Given the description of an element on the screen output the (x, y) to click on. 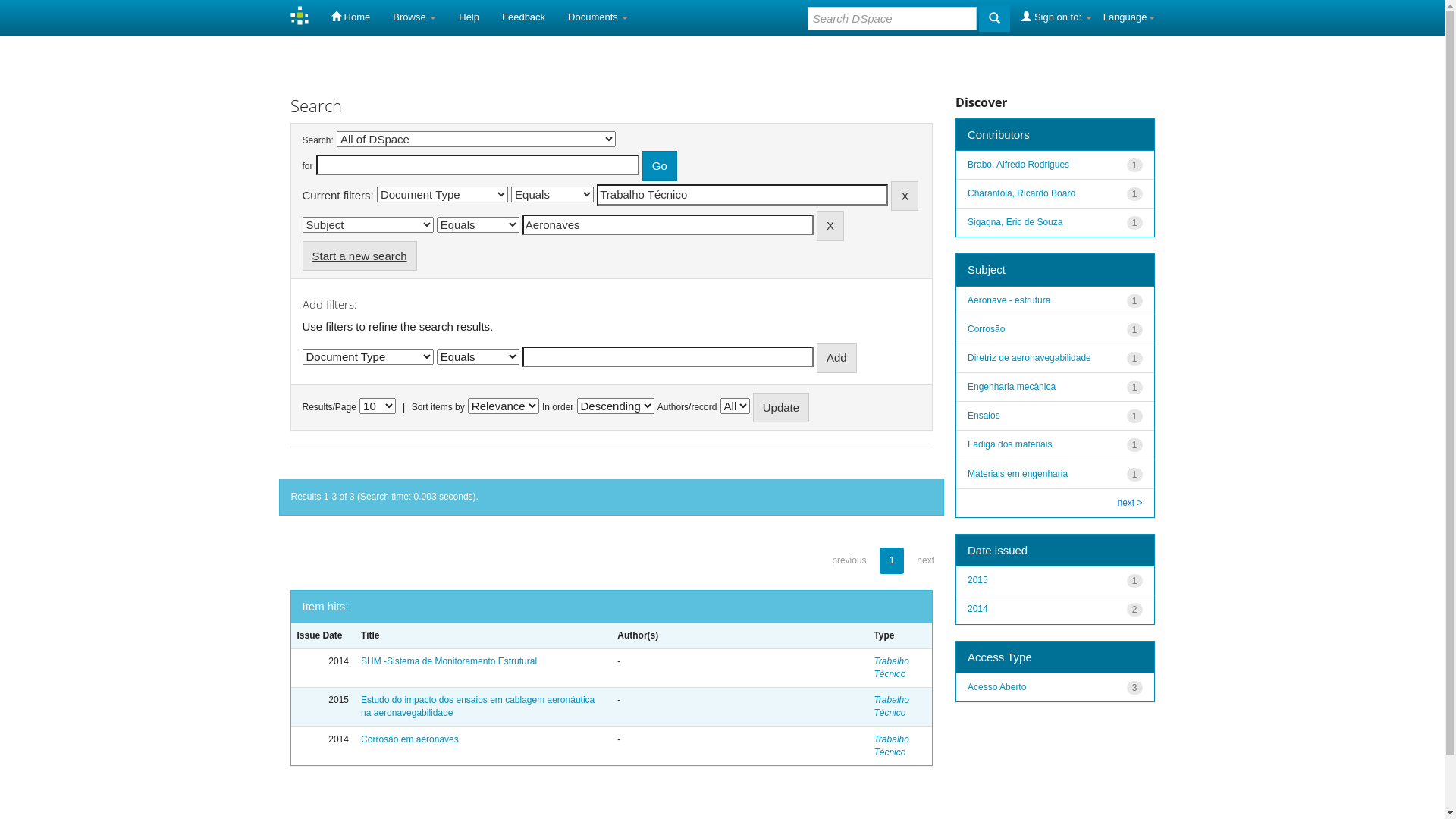
Update Element type: text (781, 407)
Diretriz de aeronavegabilidade Element type: text (1029, 357)
Charantola, Ricardo Boaro Element type: text (1021, 193)
Documents Element type: text (597, 17)
Sigagna, Eric de Souza Element type: text (1014, 221)
Ensaios Element type: text (983, 415)
Acesso Aberto Element type: text (996, 686)
X Element type: text (830, 225)
Start a new search Element type: text (358, 255)
Sign on to: Element type: text (1056, 17)
Language Element type: text (1129, 17)
Home Element type: text (350, 17)
Aeronave - estrutura Element type: text (1008, 299)
Help Element type: text (468, 17)
Feedback Element type: text (523, 17)
Brabo, Alfredo Rodrigues Element type: text (1018, 164)
2014 Element type: text (977, 608)
SHM -Sistema de Monitoramento Estrutural Element type: text (448, 660)
2015 Element type: text (977, 579)
Browse Element type: text (414, 17)
Go Element type: text (659, 165)
Materiais em engenharia Element type: text (1017, 473)
Fadiga dos materiais Element type: text (1009, 444)
Add Element type: text (836, 357)
X Element type: text (904, 195)
